Given the description of an element on the screen output the (x, y) to click on. 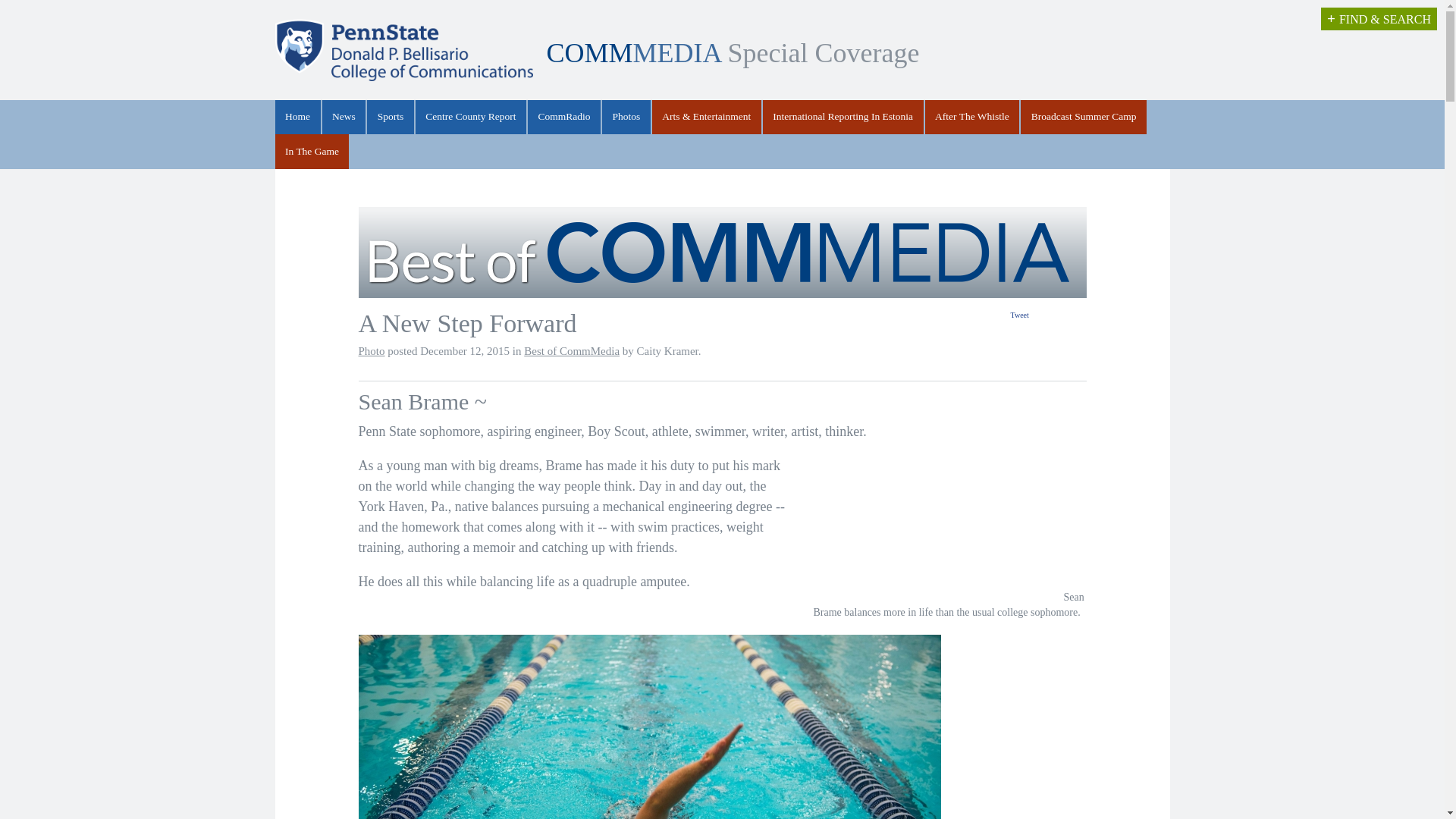
COMMMEDIA (633, 52)
